Given the description of an element on the screen output the (x, y) to click on. 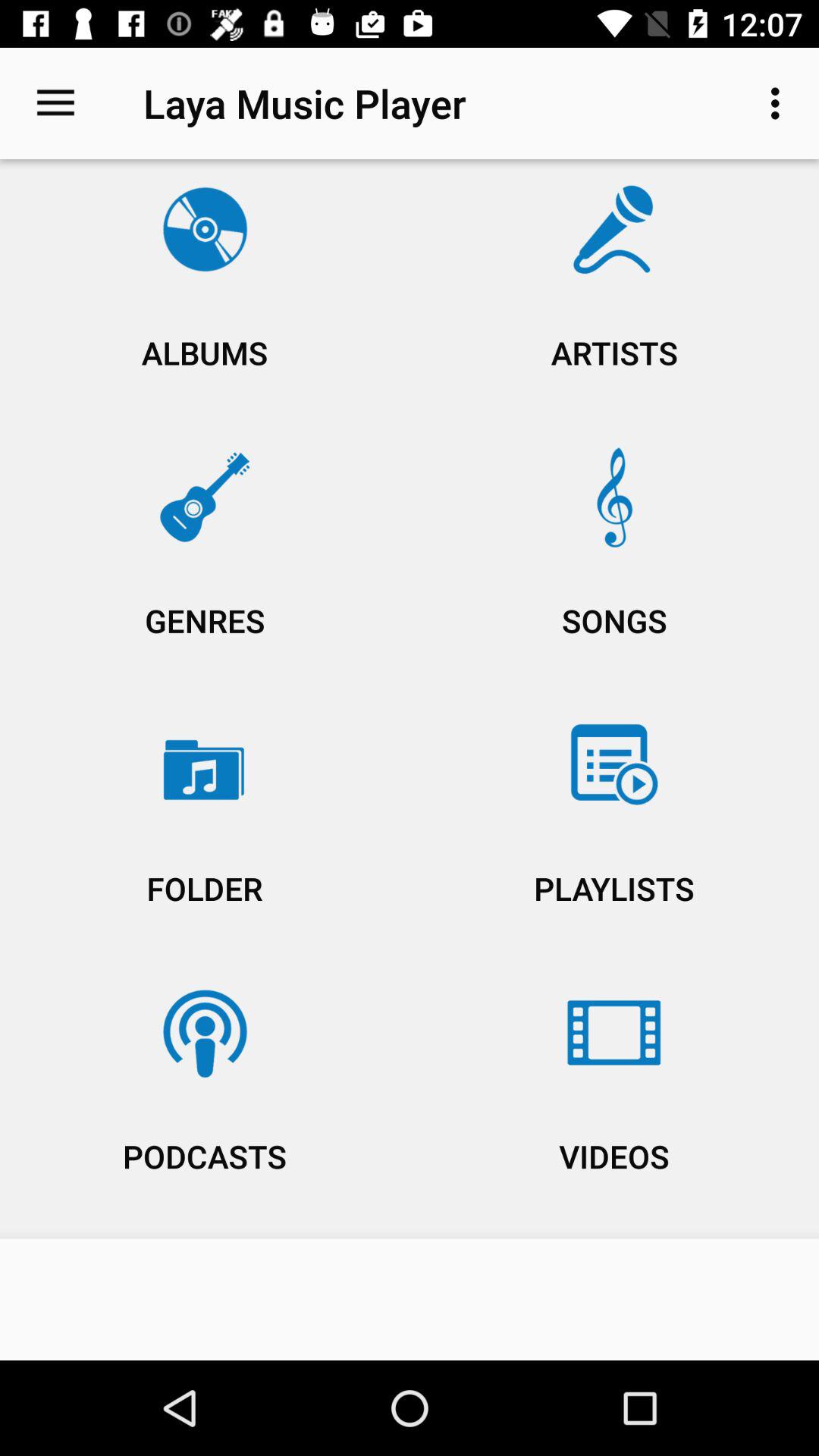
turn off item next to laya music player item (779, 103)
